Given the description of an element on the screen output the (x, y) to click on. 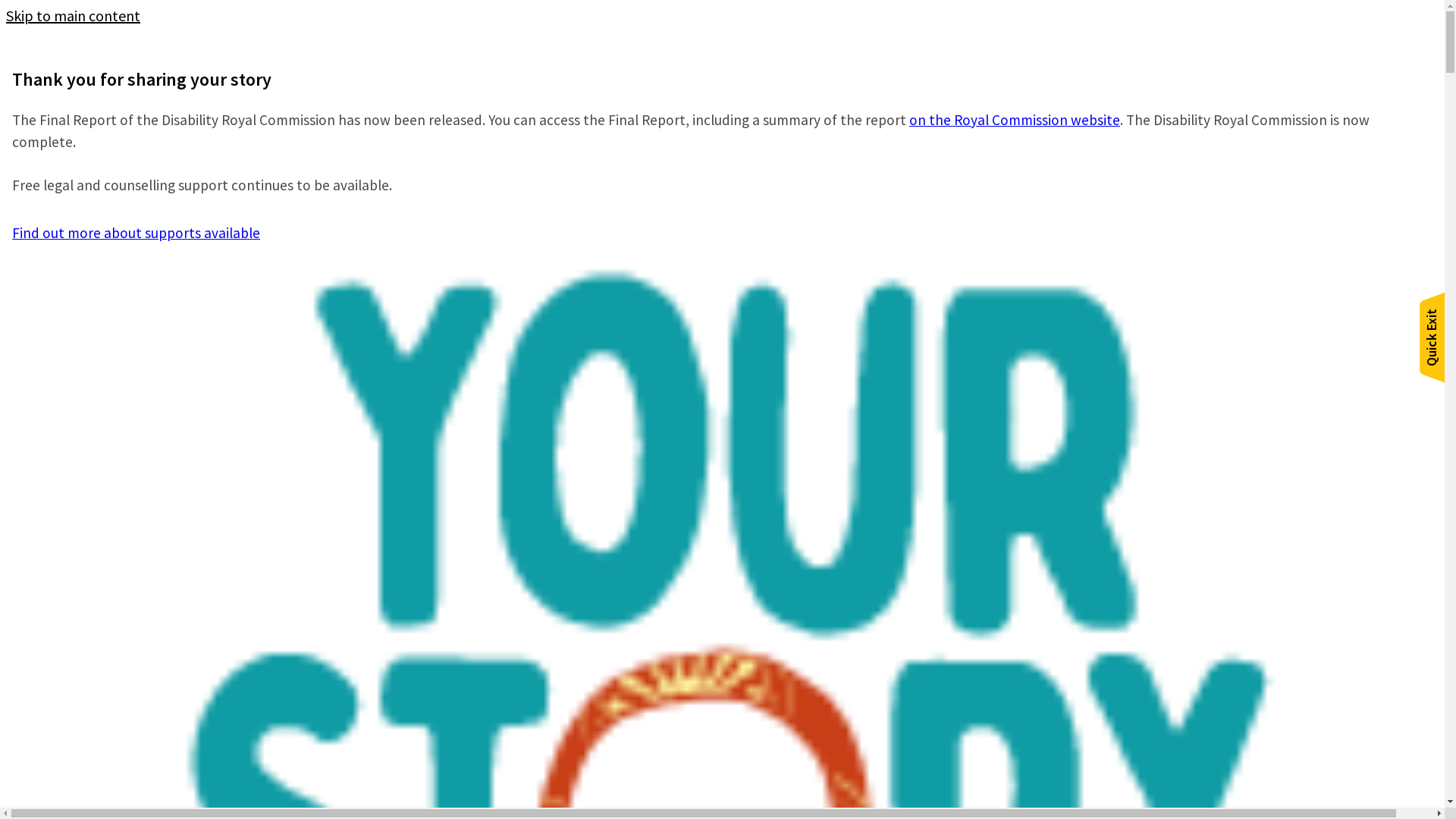
Find out more about supports available Element type: text (136, 232)
Skip to main content Element type: text (73, 15)
on the Royal Commission website Element type: text (1014, 119)
